Given the description of an element on the screen output the (x, y) to click on. 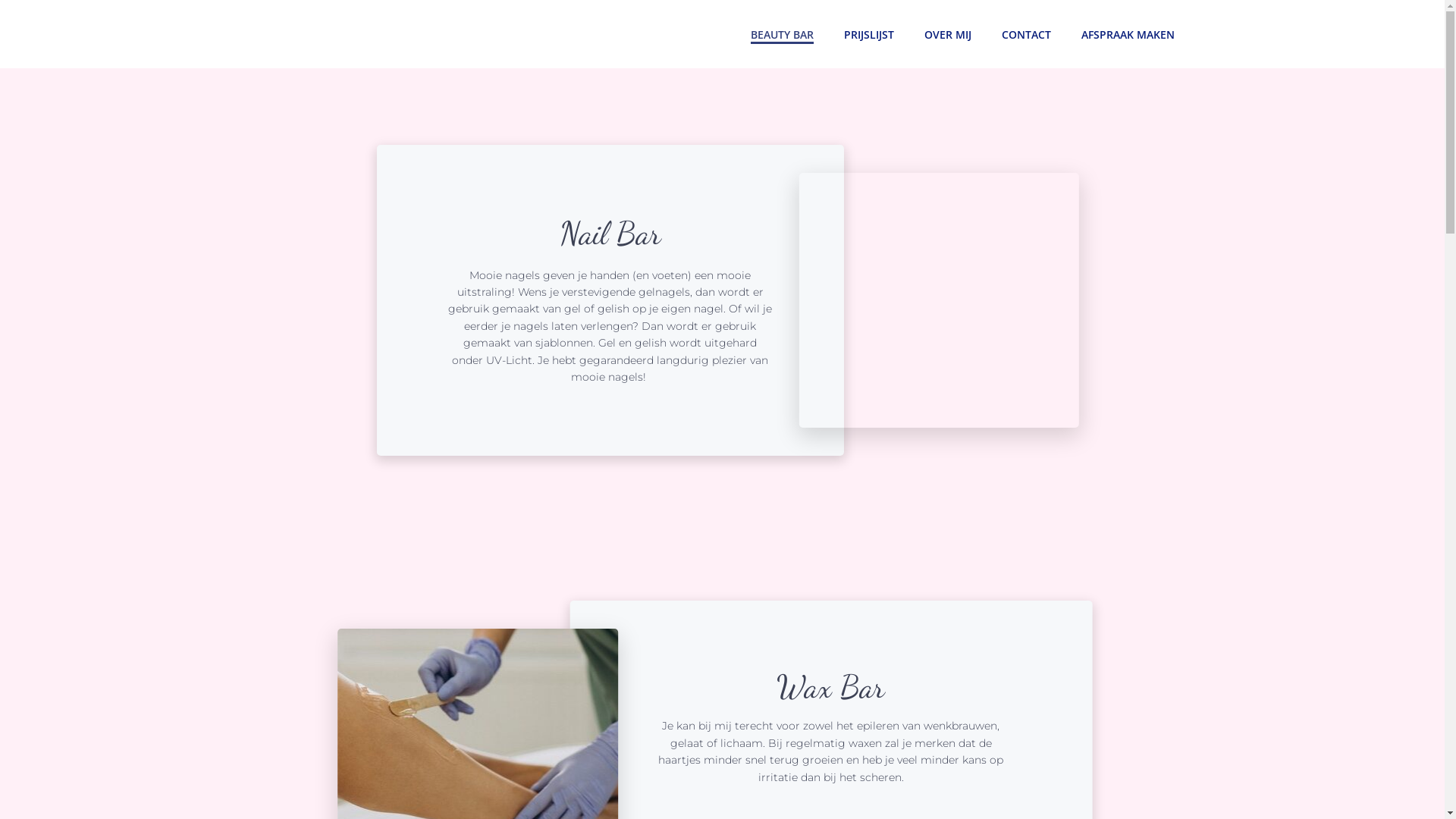
PRIJSLIJST Element type: text (868, 33)
CONTACT Element type: text (1025, 33)
AFSPRAAK MAKEN Element type: text (1127, 33)
OVER MIJ Element type: text (946, 33)
BEAUTY BAR Element type: text (781, 33)
